Given the description of an element on the screen output the (x, y) to click on. 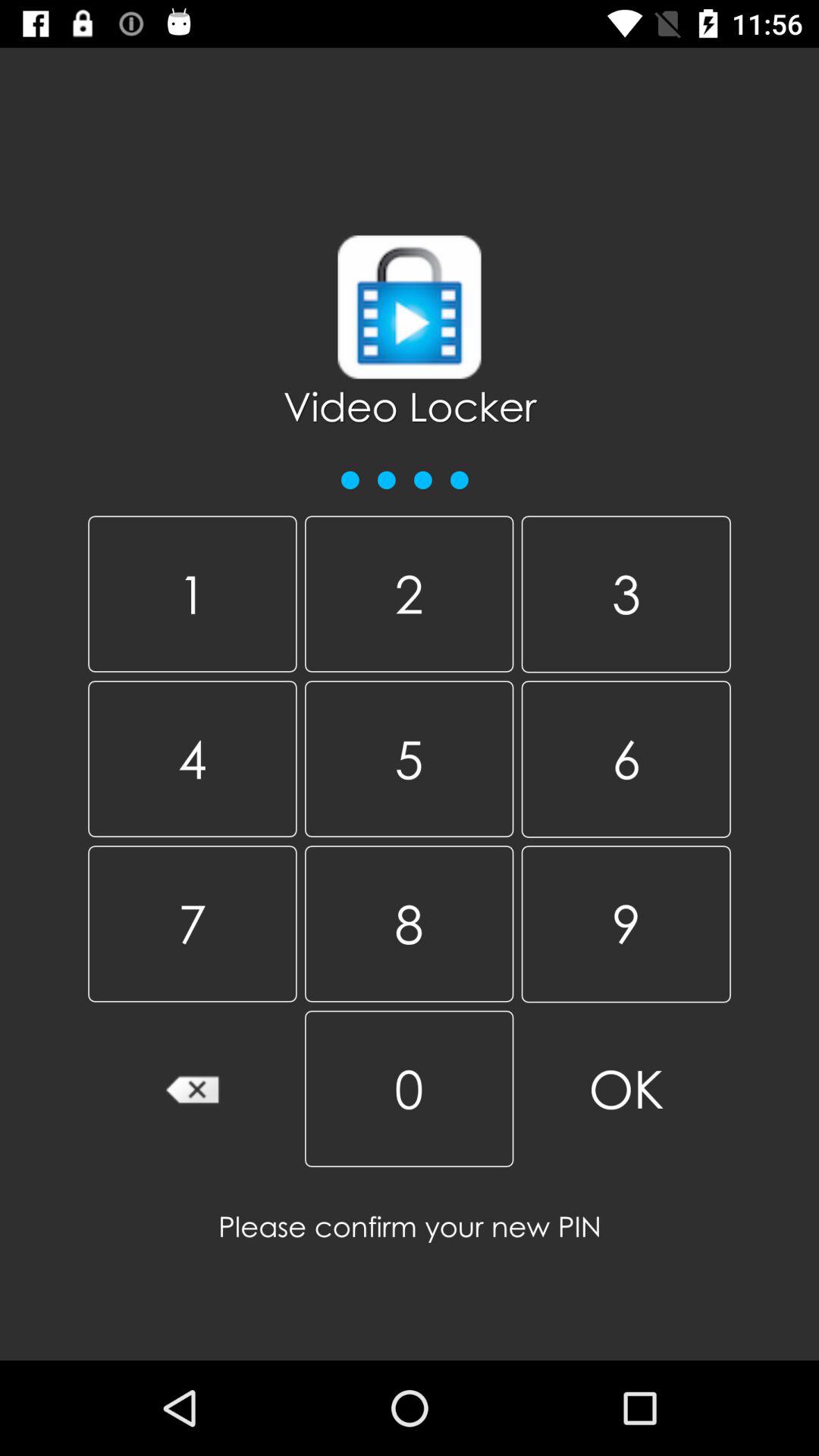
swipe until the ok icon (625, 1088)
